Given the description of an element on the screen output the (x, y) to click on. 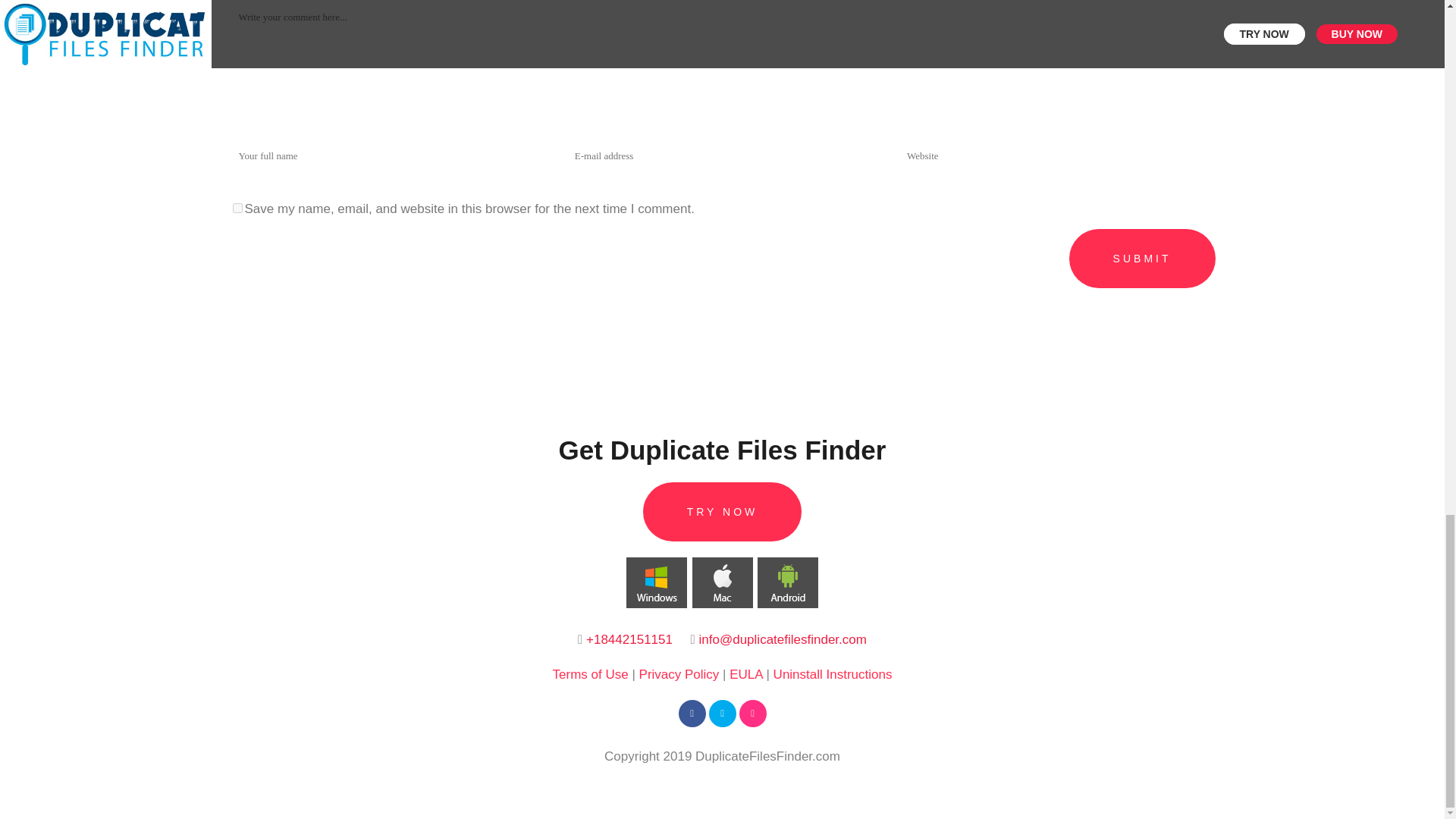
yes (236, 207)
Submit (1141, 258)
Submit (1141, 258)
